Given the description of an element on the screen output the (x, y) to click on. 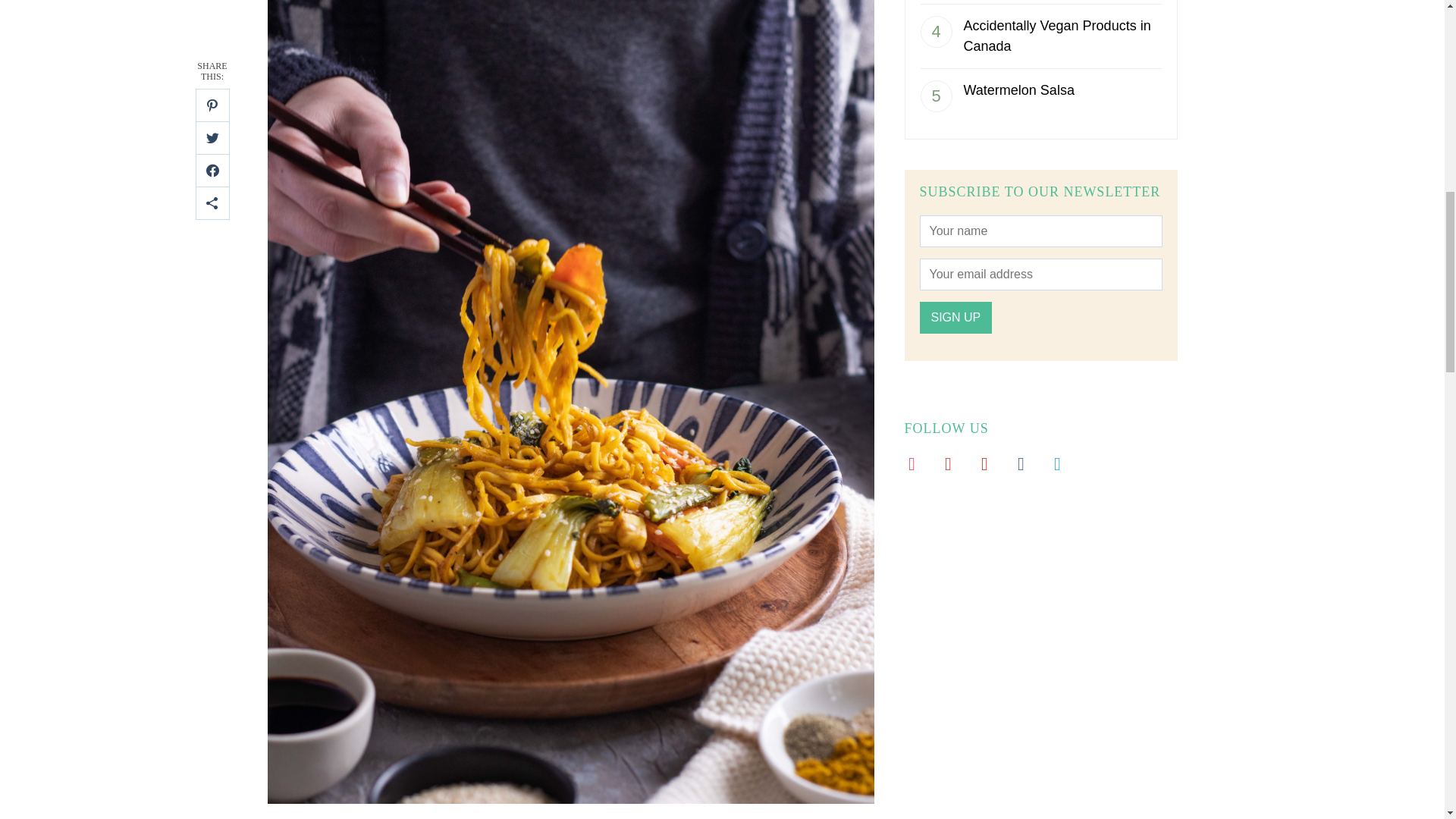
Sign up (954, 317)
